Given the description of an element on the screen output the (x, y) to click on. 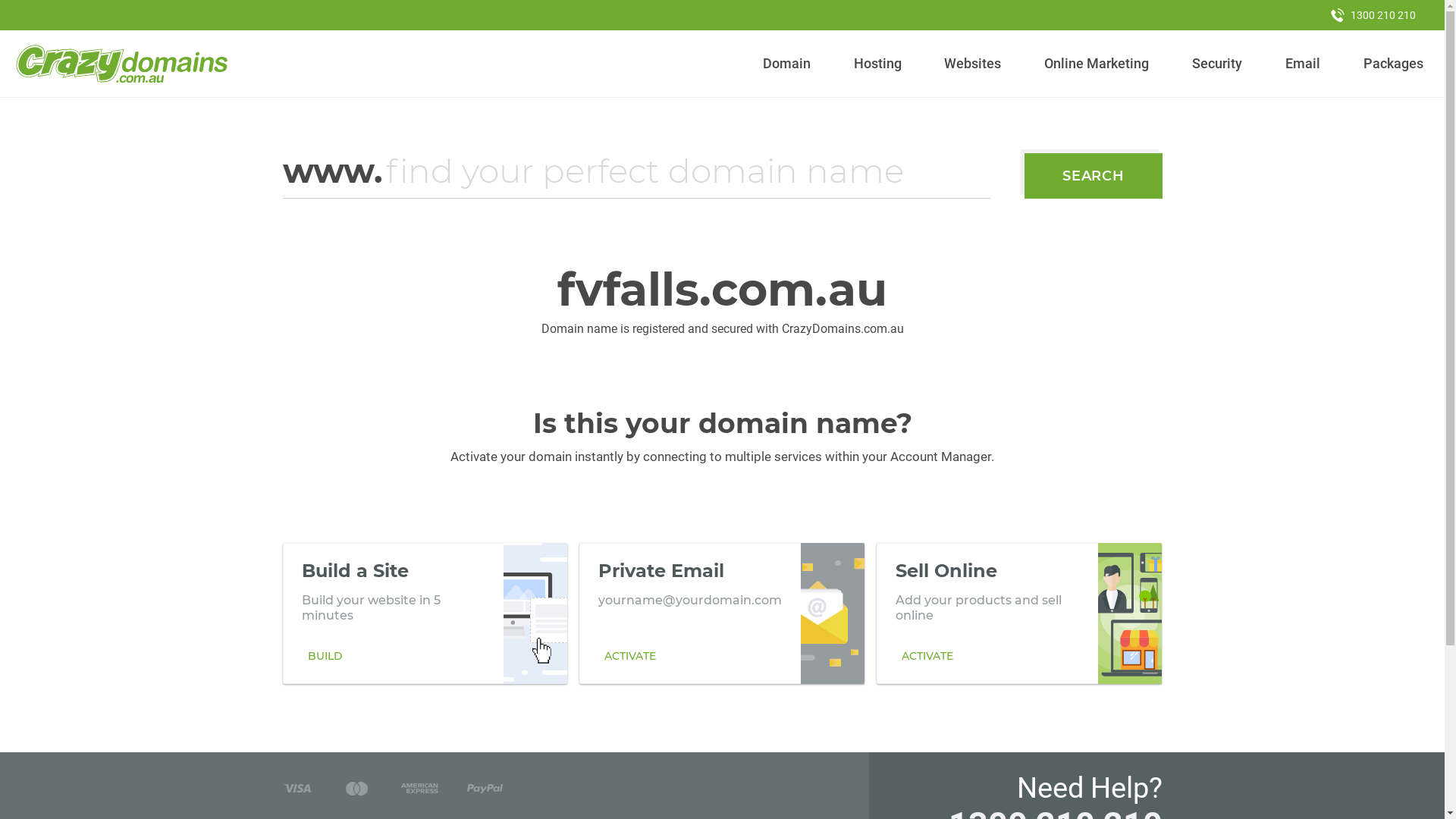
Sell Online
Add your products and sell online
ACTIVATE Element type: text (1018, 613)
Websites Element type: text (972, 63)
1300 210 210 Element type: text (1373, 15)
Packages Element type: text (1392, 63)
Domain Element type: text (786, 63)
Build a Site
Build your website in 5 minutes
BUILD Element type: text (424, 613)
Online Marketing Element type: text (1096, 63)
Email Element type: text (1302, 63)
Hosting Element type: text (877, 63)
SEARCH Element type: text (1092, 175)
Private Email
yourname@yourdomain.com
ACTIVATE Element type: text (721, 613)
Security Element type: text (1217, 63)
